Given the description of an element on the screen output the (x, y) to click on. 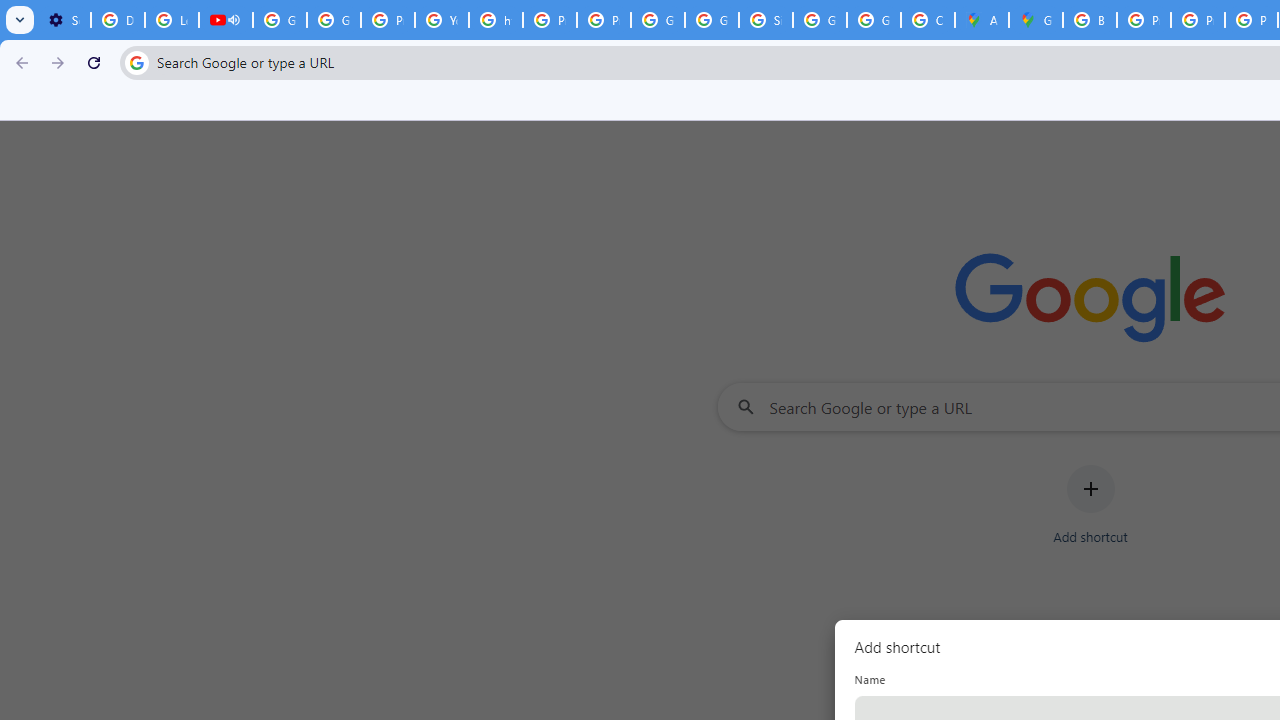
Google Maps (1035, 20)
Privacy Help Center - Policies Help (1197, 20)
Google Account Help (280, 20)
Delete photos & videos - Computer - Google Photos Help (117, 20)
Privacy Help Center - Policies Help (387, 20)
Search icon (136, 62)
Sign in - Google Accounts (765, 20)
YouTube (441, 20)
Blogger Policies and Guidelines - Transparency Center (1089, 20)
